Given the description of an element on the screen output the (x, y) to click on. 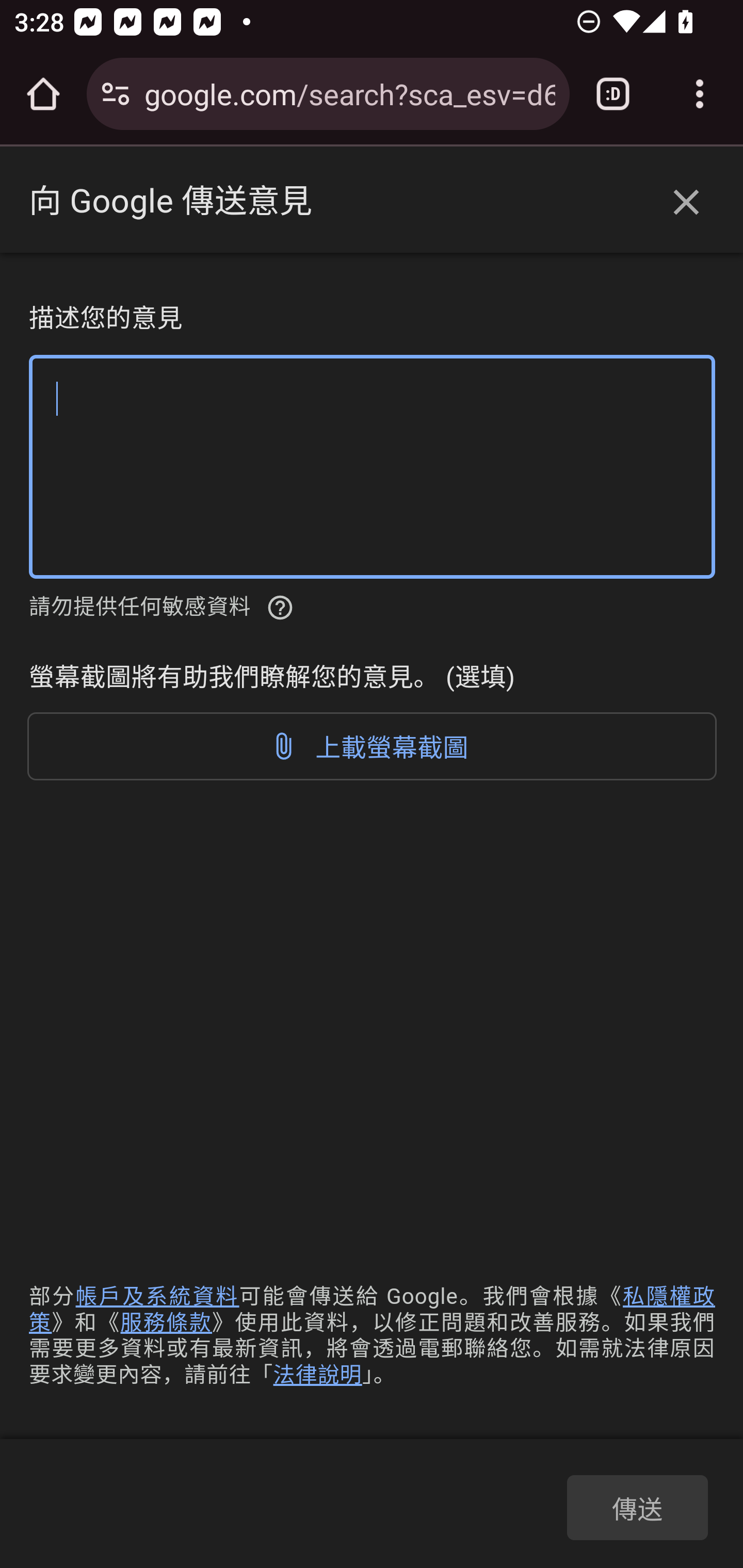
Open the home page (43, 93)
Connection is secure (115, 93)
Switch or close tabs (612, 93)
Customize and control Google Chrome (699, 93)
主選單 (54, 202)
關閉 (686, 202)
上載螢幕截圖 (372, 746)
喺新分頁度打開。私隱權政策 私隱權政策 (372, 1308)
帳戶及系統資料 (156, 1296)
喺新分頁度打開。服務條款 服務條款 (165, 1322)
喺新分頁度打開。法律說明 法律說明 (317, 1374)
傳送掣，停用咗。除了標示為選填的問題之外，所有問題均需回答 (636, 1507)
